Given the description of an element on the screen output the (x, y) to click on. 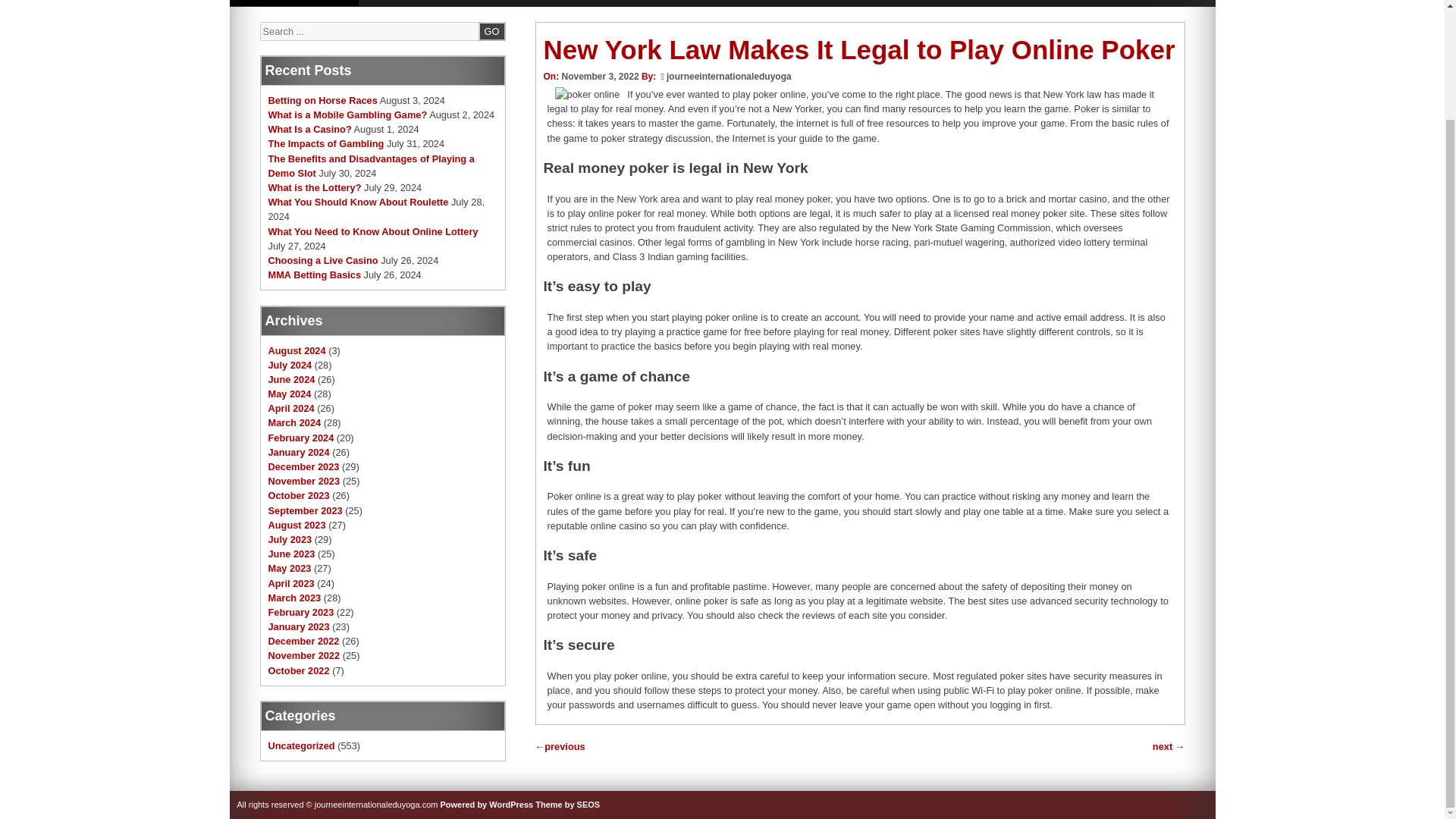
What You Should Know About Roulette (357, 202)
May 2024 (289, 393)
journeeinternationaleduyoga (729, 76)
October 2023 (298, 495)
December 2023 (303, 466)
What You Need to Know About Online Lottery (373, 231)
September 2023 (304, 510)
June 2024 (291, 378)
August 2023 (296, 524)
MMA Betting Basics (314, 274)
Choosing a Live Casino (322, 260)
July 2023 (290, 539)
GO (492, 30)
GO (492, 30)
April 2024 (290, 408)
